Given the description of an element on the screen output the (x, y) to click on. 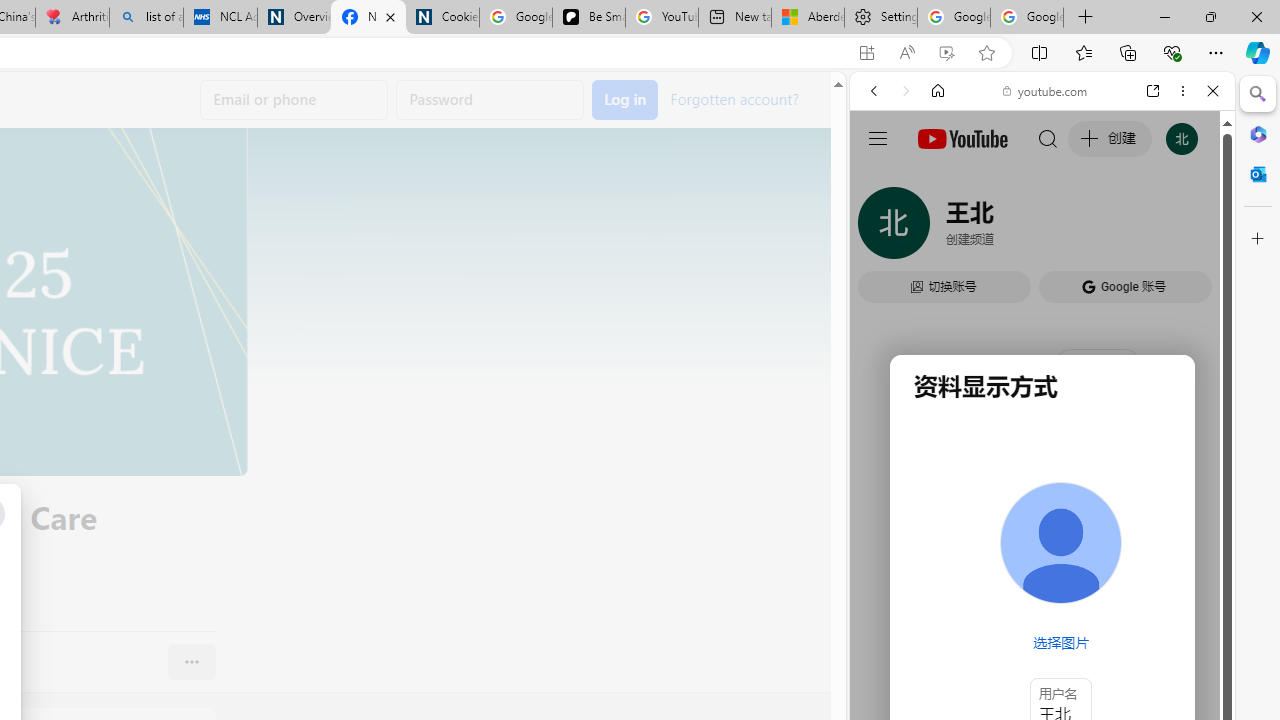
Forgotten account? (733, 97)
Accessible login button (625, 99)
youtube.com (1046, 90)
